Given the description of an element on the screen output the (x, y) to click on. 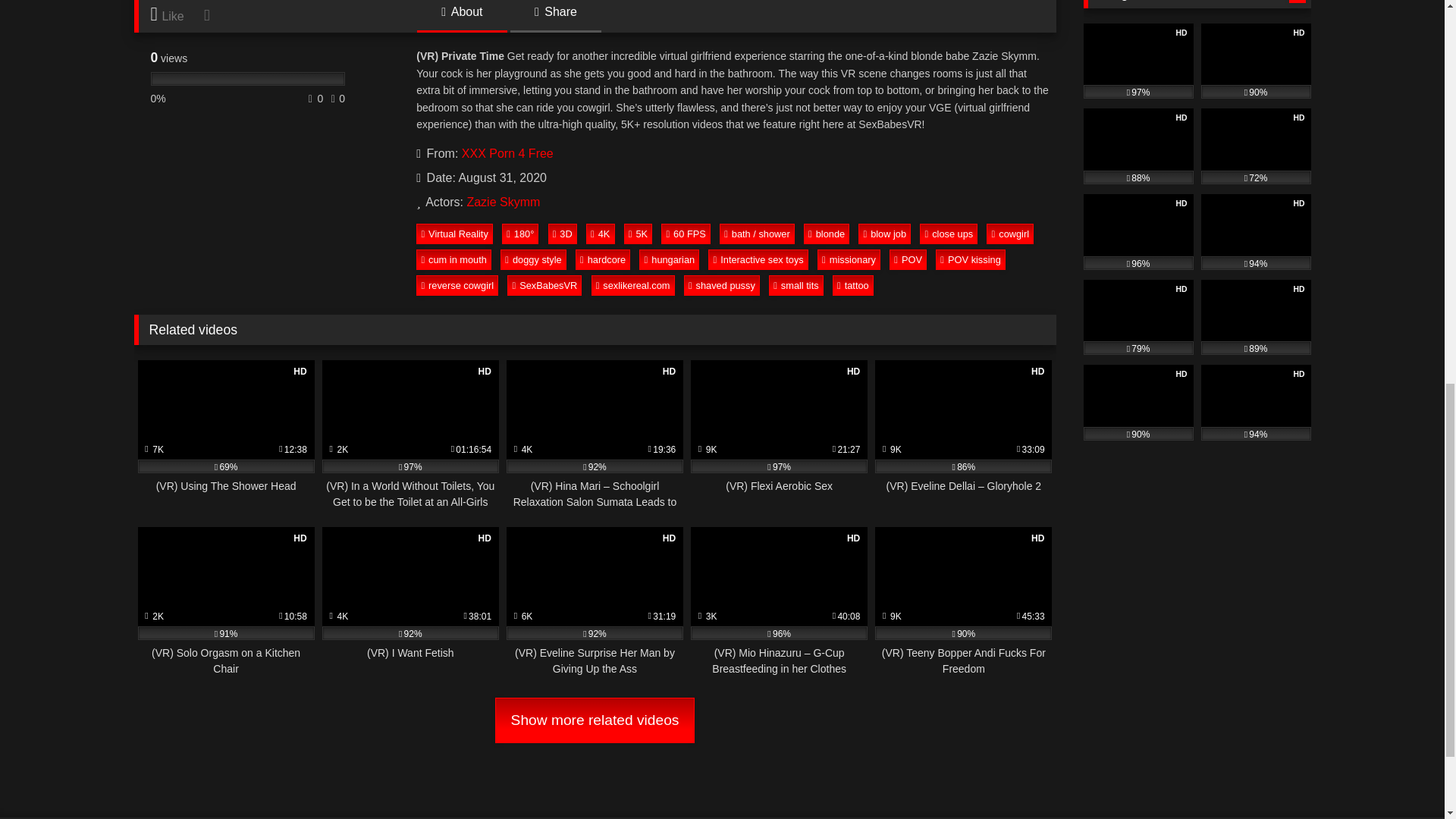
4K (600, 233)
hungarian (668, 259)
3D (562, 233)
blow job (885, 233)
Interactive sex toys (757, 259)
Virtual Reality (454, 233)
Virtual Reality (454, 233)
Posts by XXX Porn 4 Free (507, 153)
cowgirl (1010, 233)
cum in mouth (454, 259)
